Given the description of an element on the screen output the (x, y) to click on. 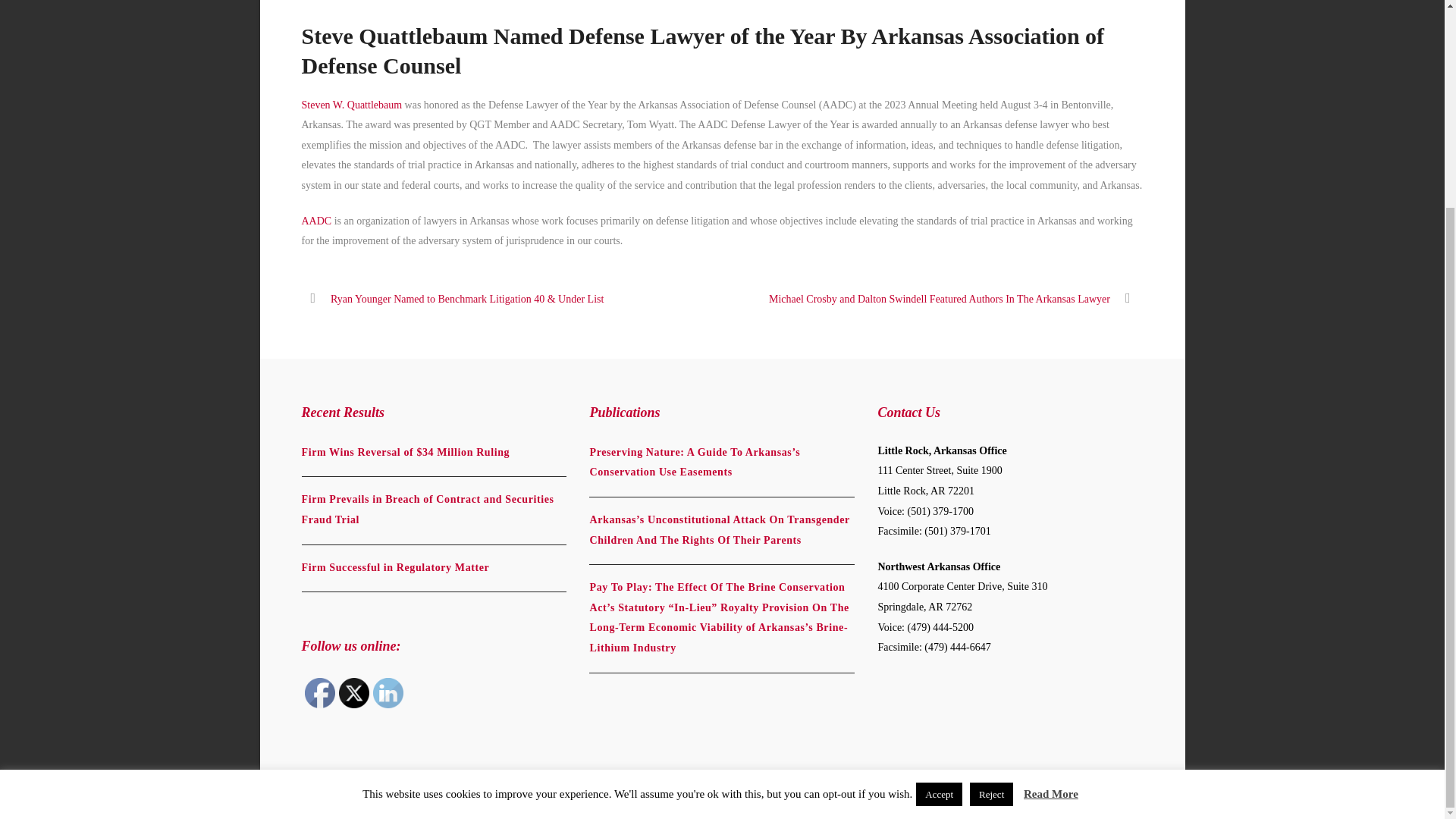
Steven W. Quattlebaum (352, 104)
Facebook (319, 693)
LinkedIn (387, 693)
Firm Successful in Regulatory Matter (395, 567)
Twitter (352, 693)
AADC (316, 220)
